Given the description of an element on the screen output the (x, y) to click on. 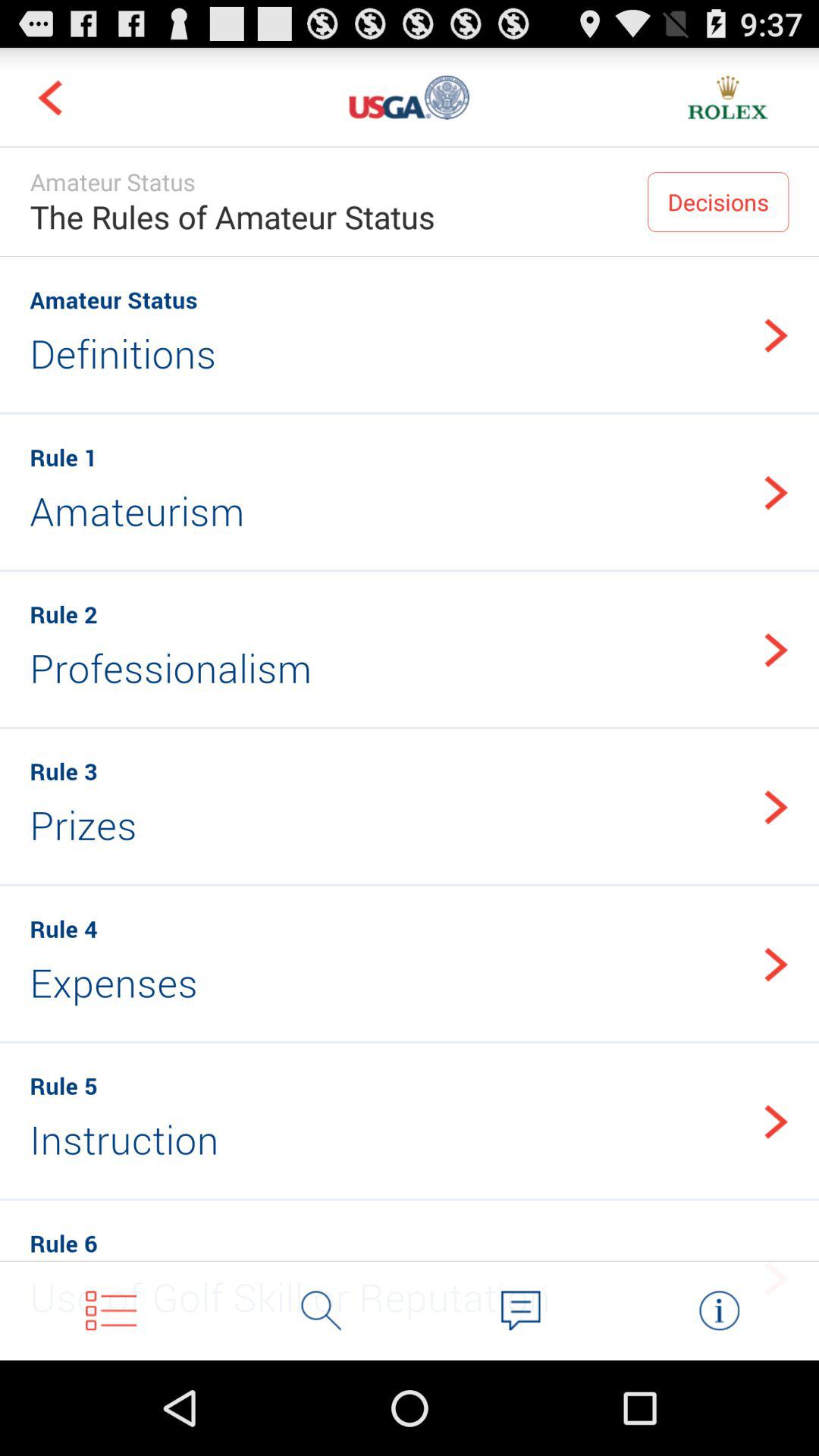
chat (519, 1310)
